Given the description of an element on the screen output the (x, y) to click on. 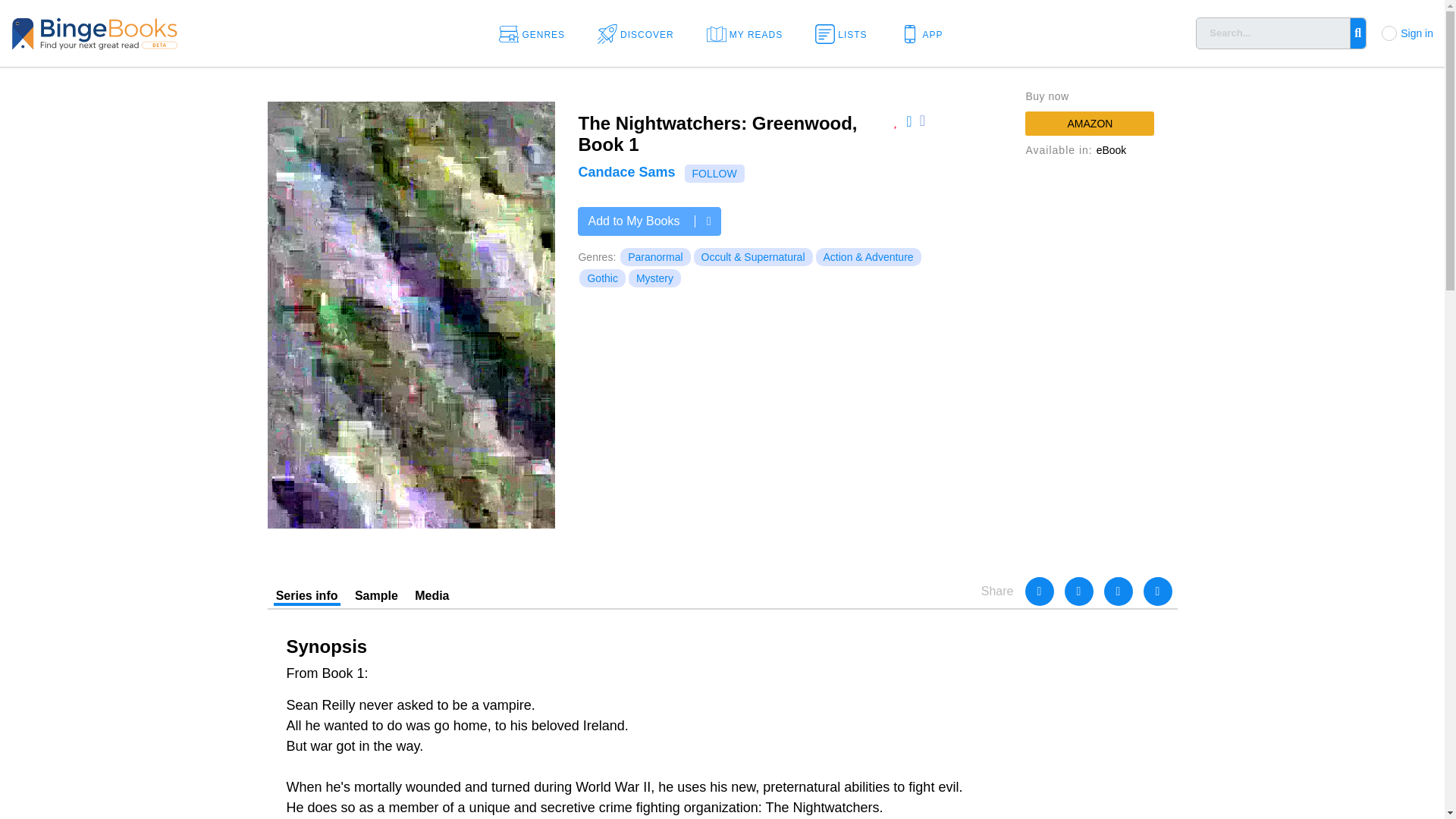
AMAZON (1089, 123)
Genres (537, 33)
DISCOVER (640, 33)
My reads (749, 33)
FOLLOW (714, 173)
Discover (640, 33)
Find your next great read (144, 32)
LISTS (845, 33)
Sign in (1416, 33)
MY READS (749, 33)
